Given the description of an element on the screen output the (x, y) to click on. 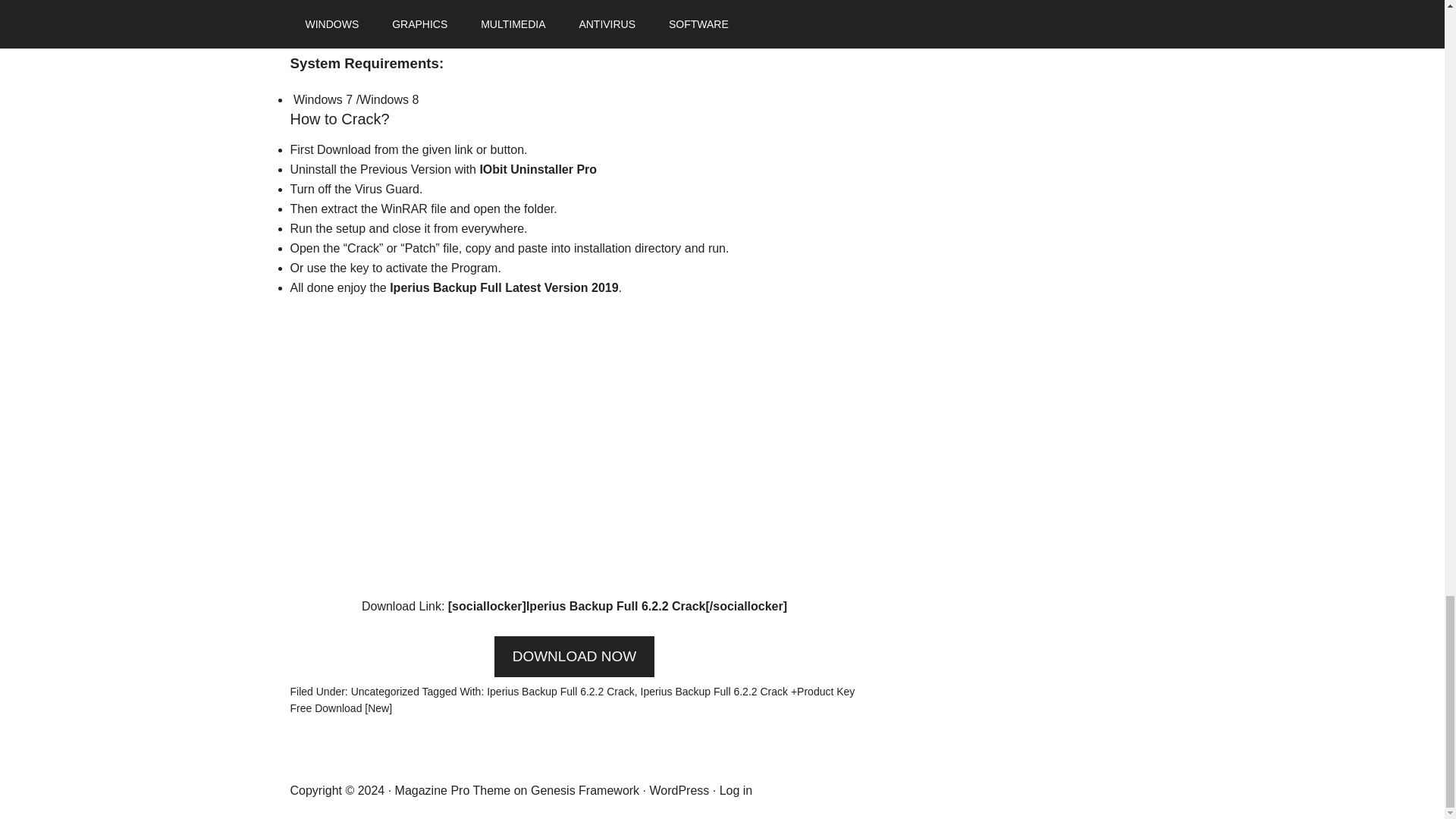
Uncategorized (384, 691)
Download (344, 149)
DOWNLOAD NOW (575, 656)
DOWNLOAD NOW (575, 656)
Iperius Backup Full 6.2.2 Crack (560, 691)
